Given the description of an element on the screen output the (x, y) to click on. 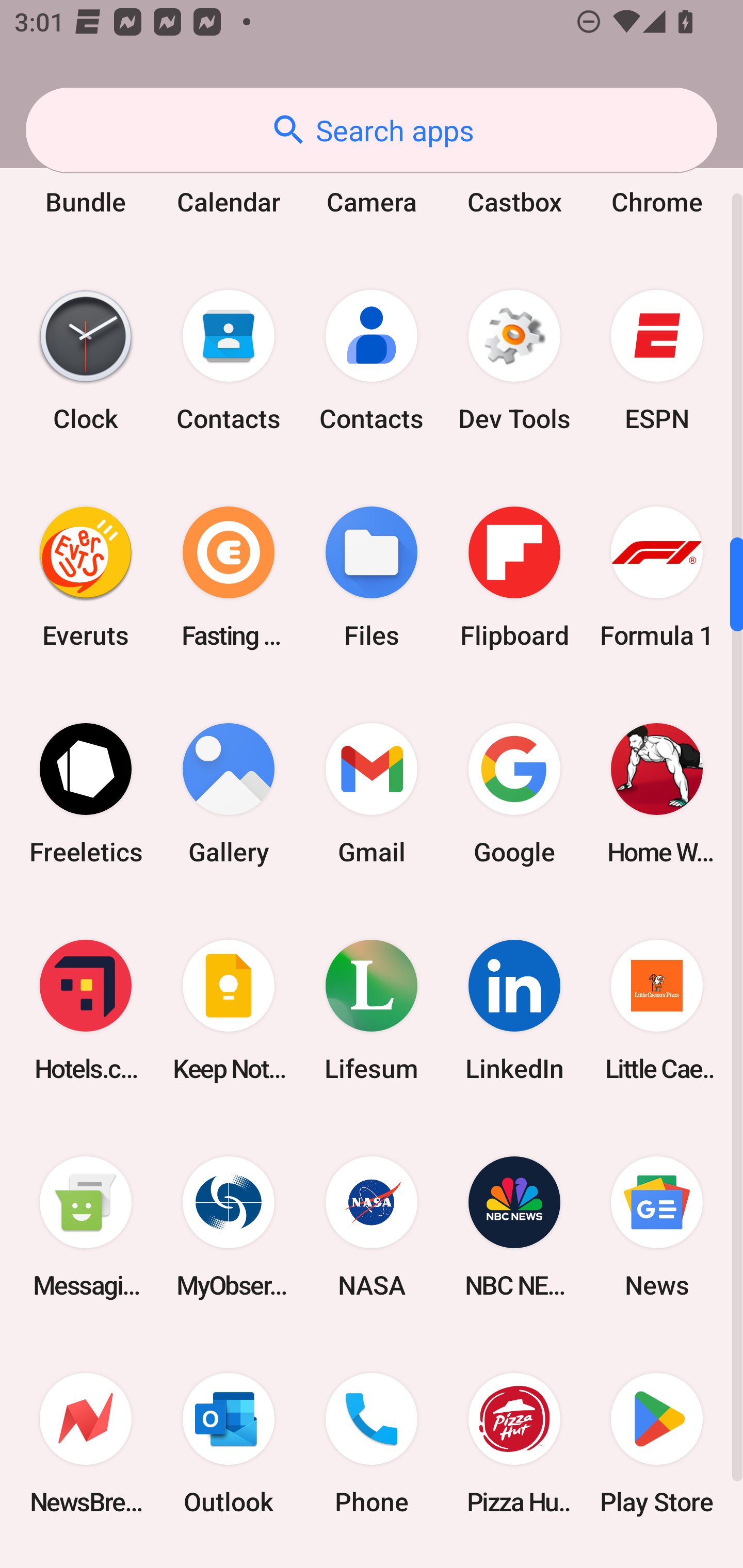
  Search apps (371, 130)
Clock (85, 360)
Contacts (228, 360)
Contacts (371, 360)
Dev Tools (514, 360)
ESPN (656, 360)
Everuts (85, 576)
Fasting Coach (228, 576)
Files (371, 576)
Flipboard (514, 576)
Formula 1 (656, 576)
Freeletics (85, 793)
Gallery (228, 793)
Gmail (371, 793)
Google (514, 793)
Home Workout (656, 793)
Hotels.com (85, 1009)
Keep Notes (228, 1009)
Lifesum (371, 1009)
LinkedIn (514, 1009)
Little Caesars Pizza (656, 1009)
Messaging (85, 1226)
MyObservatory (228, 1226)
NASA (371, 1226)
NBC NEWS (514, 1226)
News (656, 1226)
NewsBreak (85, 1443)
Outlook (228, 1443)
Phone (371, 1443)
Pizza Hut HK & Macau (514, 1443)
Play Store (656, 1443)
